Given the description of an element on the screen output the (x, y) to click on. 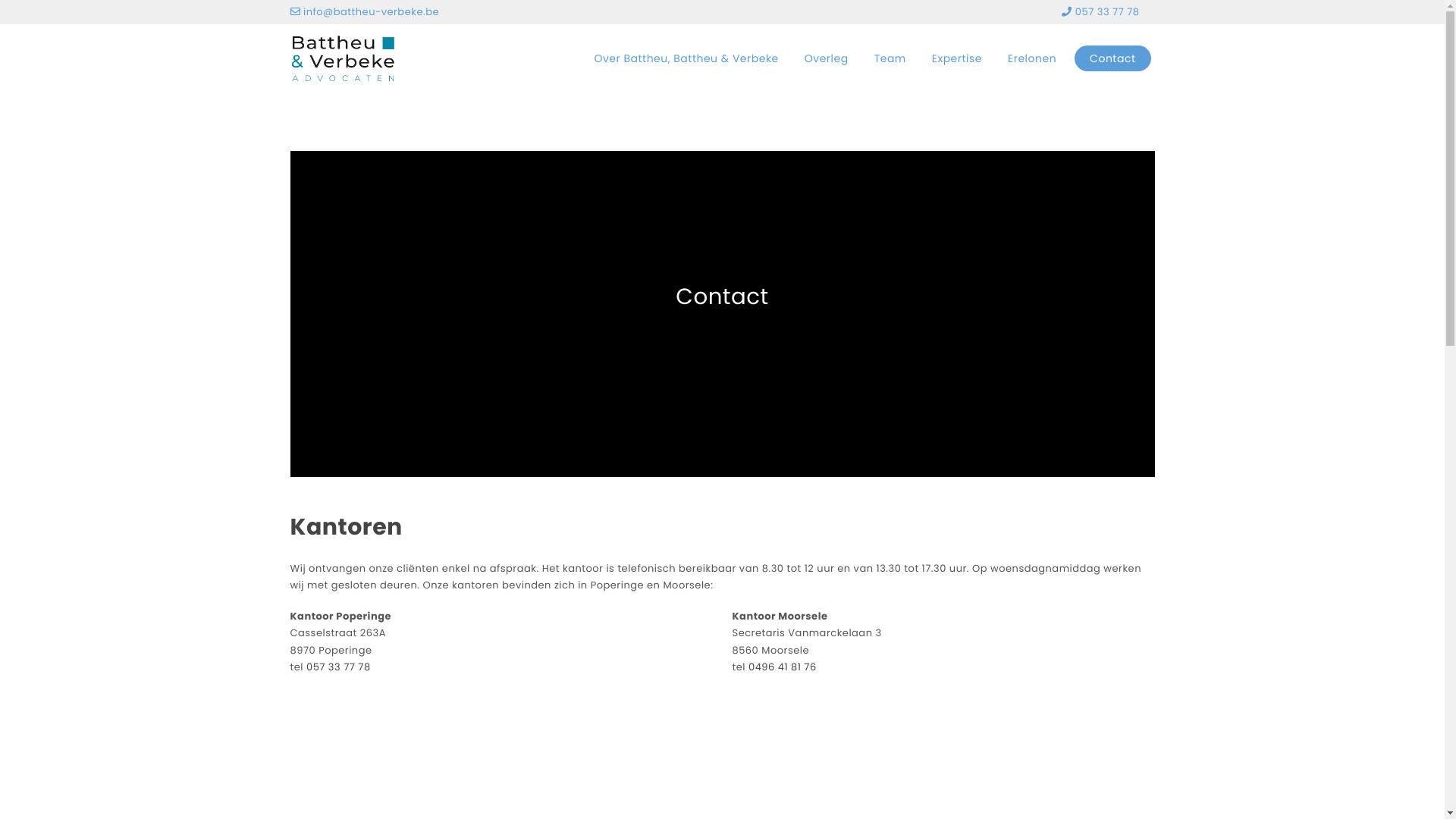
Erelonen Element type: text (1031, 57)
057 33 77 78 Element type: text (338, 666)
Overleg Element type: text (826, 57)
Over Battheu, Battheu & Verbeke Element type: text (685, 57)
Team Element type: text (889, 57)
0496 41 81 76 Element type: text (782, 666)
Expertise Element type: text (956, 57)
Contact Element type: text (1112, 58)
